Given the description of an element on the screen output the (x, y) to click on. 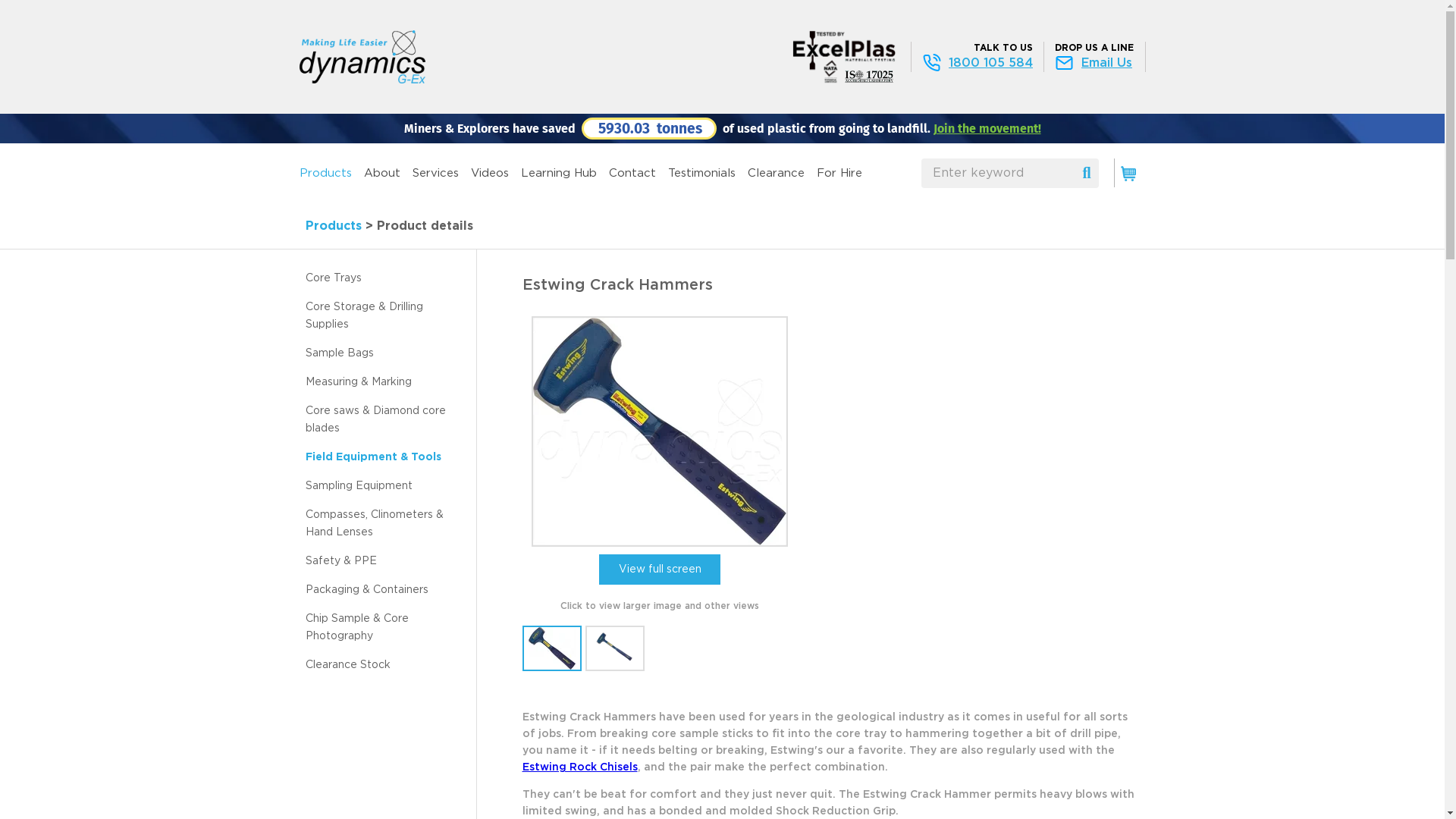
Testimonials Element type: text (700, 173)
About Element type: text (381, 173)
Clearance Element type: text (775, 173)
Clearance Stock Element type: text (346, 664)
Videos Element type: text (489, 173)
Sampling Equipment Element type: text (357, 485)
Core Trays Element type: text (332, 278)
Join the movement! Element type: text (986, 128)
Compasses, Clinometers & Hand Lenses Element type: text (373, 523)
Core saws & Diamond core blades Element type: text (374, 419)
Estwing Rock Chisels Element type: text (579, 767)
1800 105 584 Element type: text (977, 62)
Learning Hub Element type: text (558, 173)
Chip Sample & Core Photography Element type: text (355, 627)
Field Equipment & Tools Element type: text (372, 456)
Products Element type: text (324, 173)
Contact Element type: text (631, 173)
Services Element type: text (435, 173)
Email Us Element type: text (1094, 62)
For Hire Element type: text (838, 173)
Products Element type: text (332, 225)
Measuring & Marking Element type: text (357, 381)
Dynamics G-Ex Element type: hover (361, 56)
Packaging & Containers Element type: text (365, 589)
Sample Bags Element type: text (338, 353)
Safety & PPE Element type: text (340, 560)
Core Storage & Drilling Supplies Element type: text (363, 315)
